Given the description of an element on the screen output the (x, y) to click on. 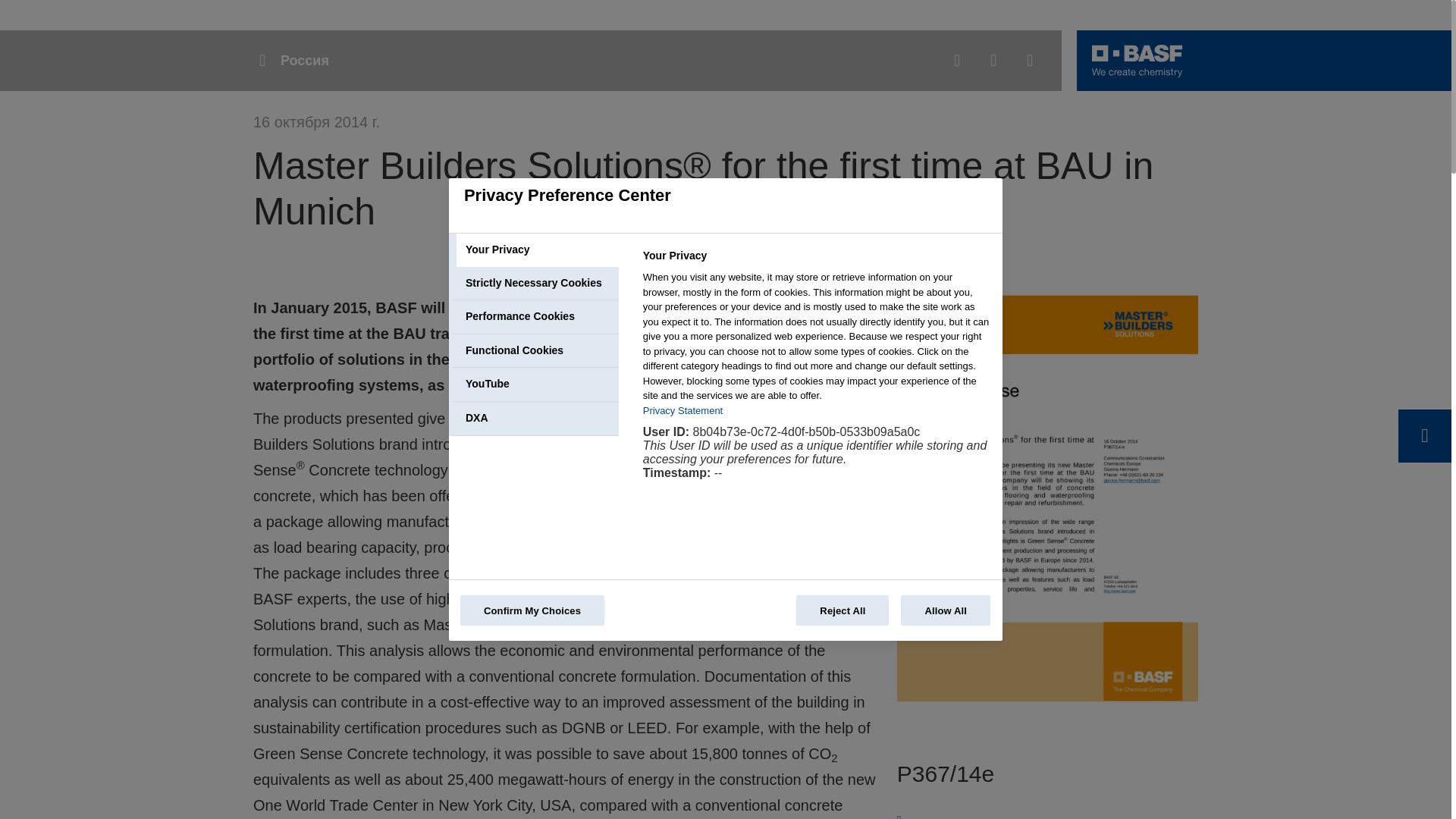
Confirm My Choices (532, 610)
Privacy Statement (683, 410)
Reject All (842, 610)
Allow All (945, 610)
